Given the description of an element on the screen output the (x, y) to click on. 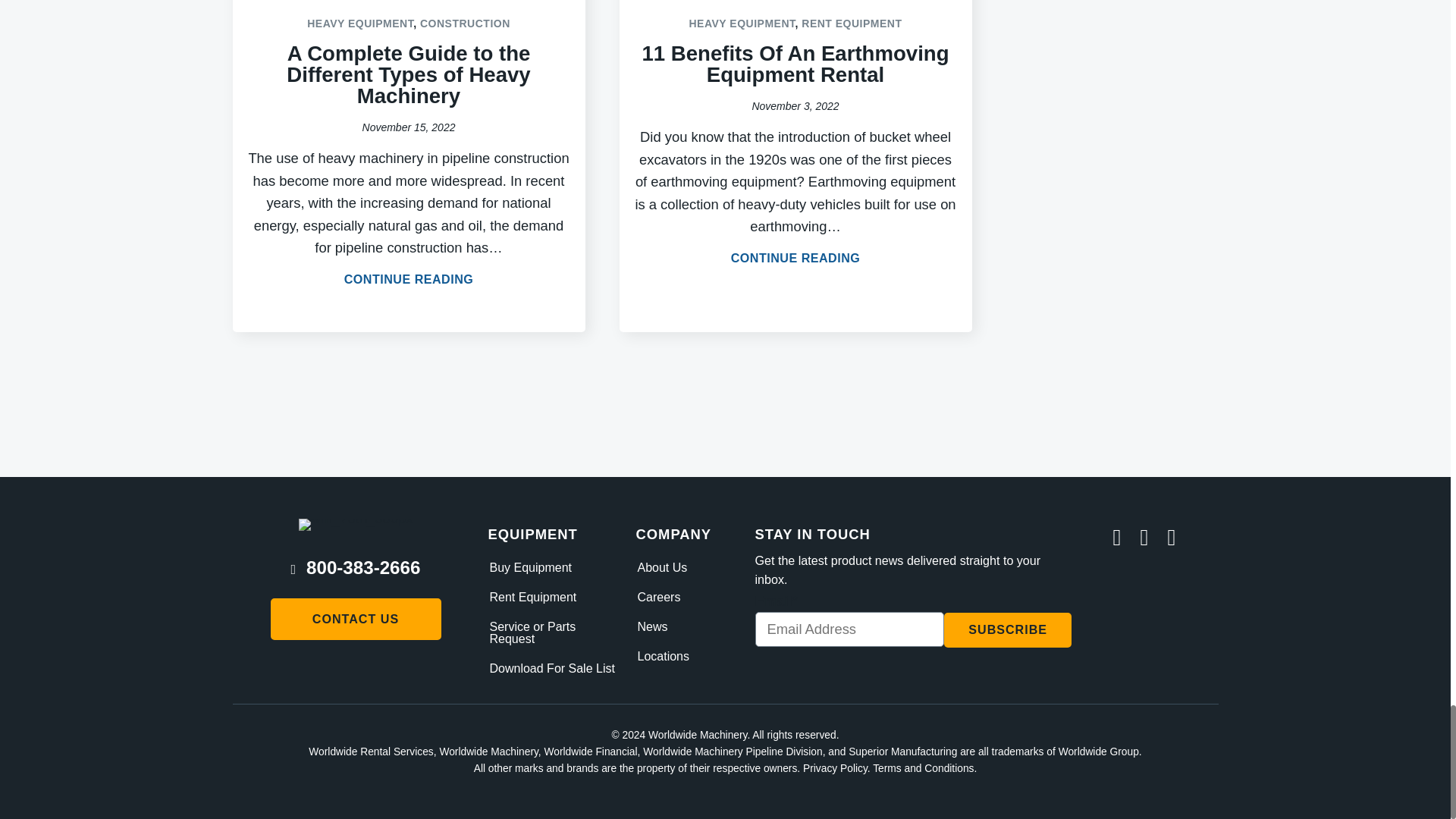
Subscribe (1007, 630)
